Given the description of an element on the screen output the (x, y) to click on. 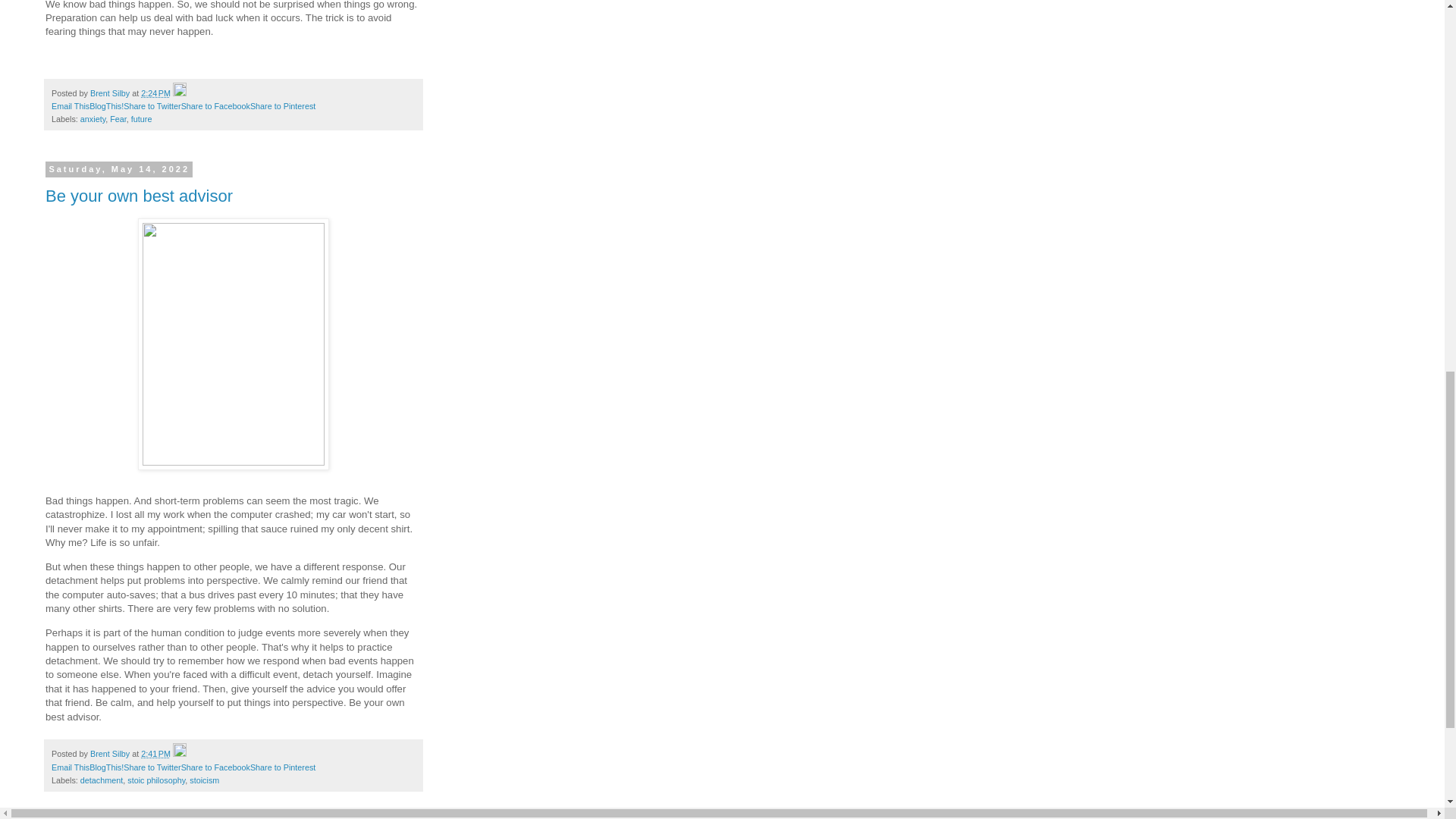
Share to Facebook (215, 105)
author profile (111, 92)
Email This (69, 105)
detachment (101, 779)
author profile (111, 753)
Share to Twitter (151, 105)
Share to Facebook (215, 767)
Share to Facebook (215, 767)
stoic philosophy (156, 779)
